Given the description of an element on the screen output the (x, y) to click on. 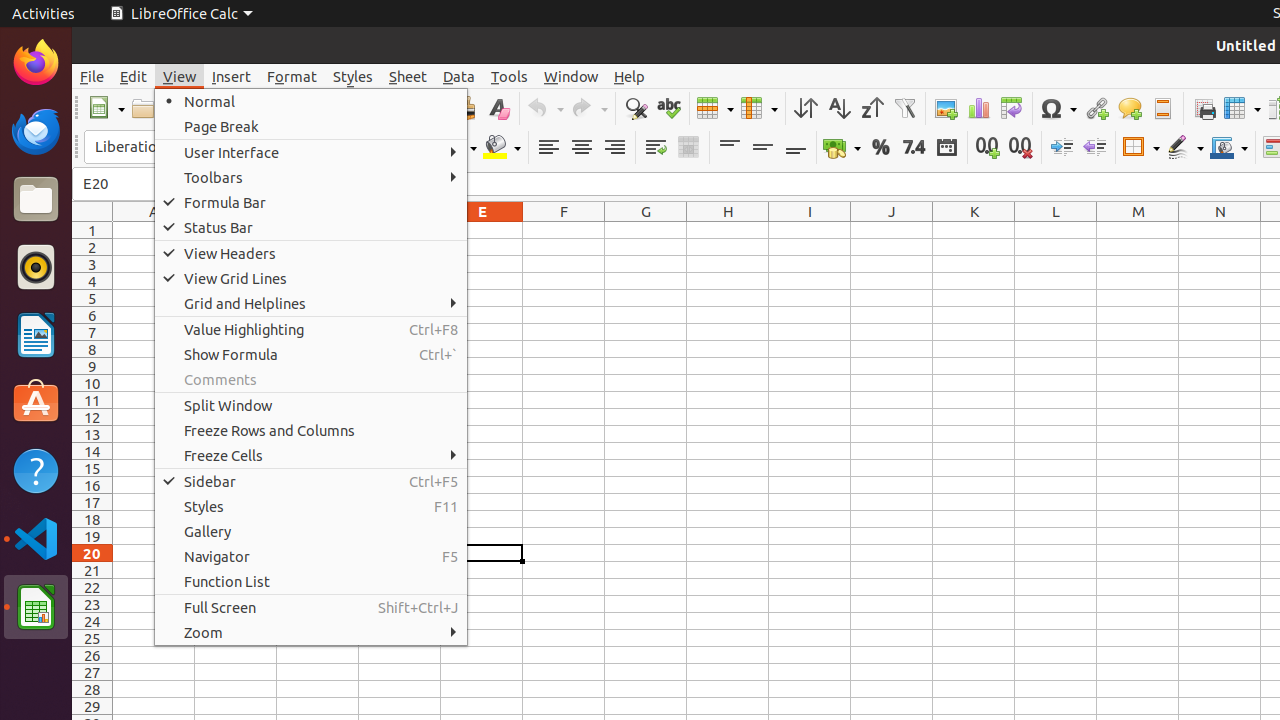
Number Element type: push-button (913, 147)
Borders (Shift to overwrite) Element type: push-button (1141, 147)
Visual Studio Code Element type: push-button (36, 538)
Tools Element type: menu (509, 76)
Files Element type: push-button (36, 199)
